Given the description of an element on the screen output the (x, y) to click on. 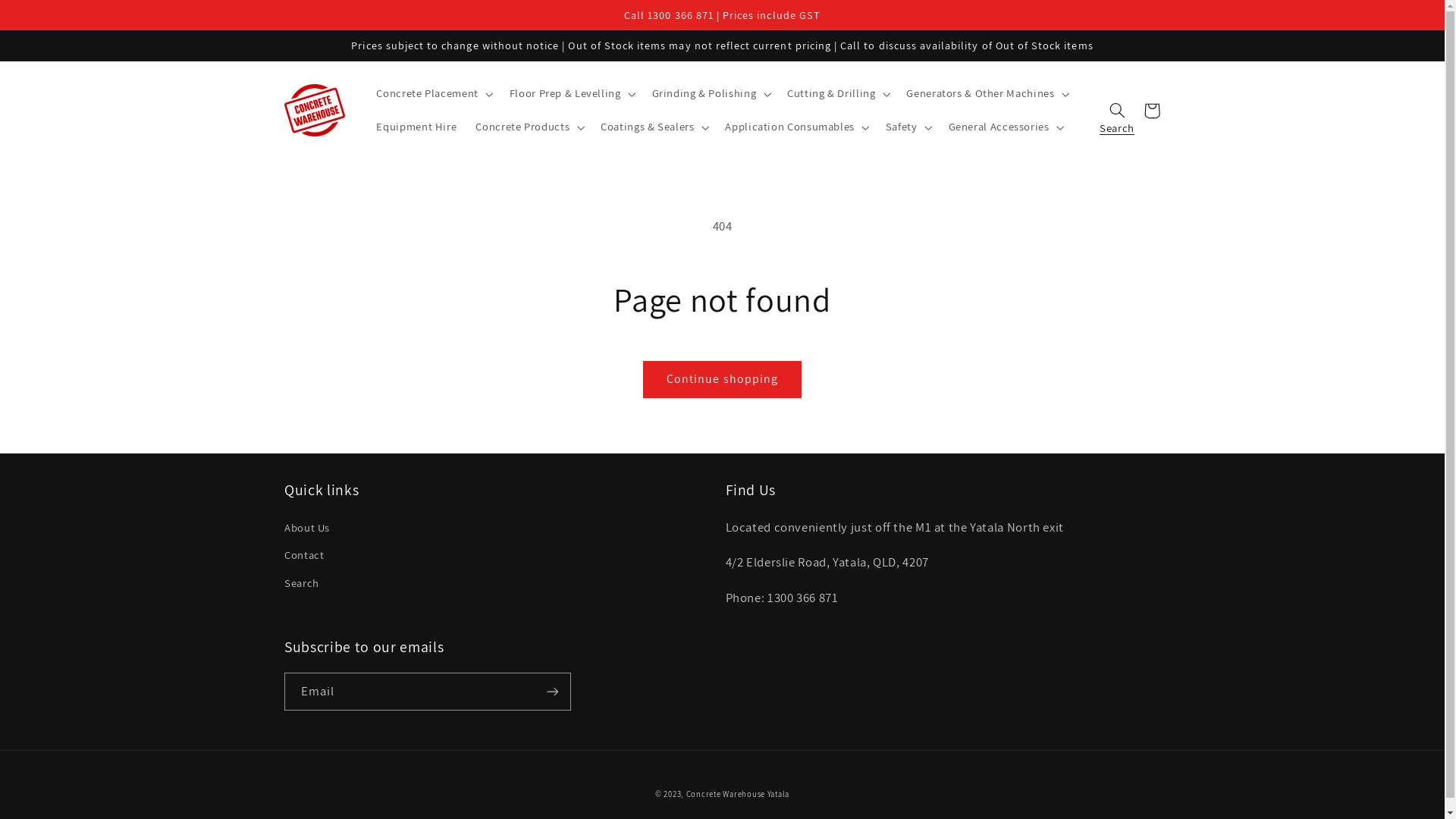
Continue shopping Element type: text (722, 379)
Cart Element type: text (1151, 110)
Concrete Warehouse Yatala Element type: text (737, 793)
Search Element type: text (301, 582)
Contact Element type: text (303, 554)
Equipment Hire Element type: text (416, 127)
About Us Element type: text (306, 529)
